Given the description of an element on the screen output the (x, y) to click on. 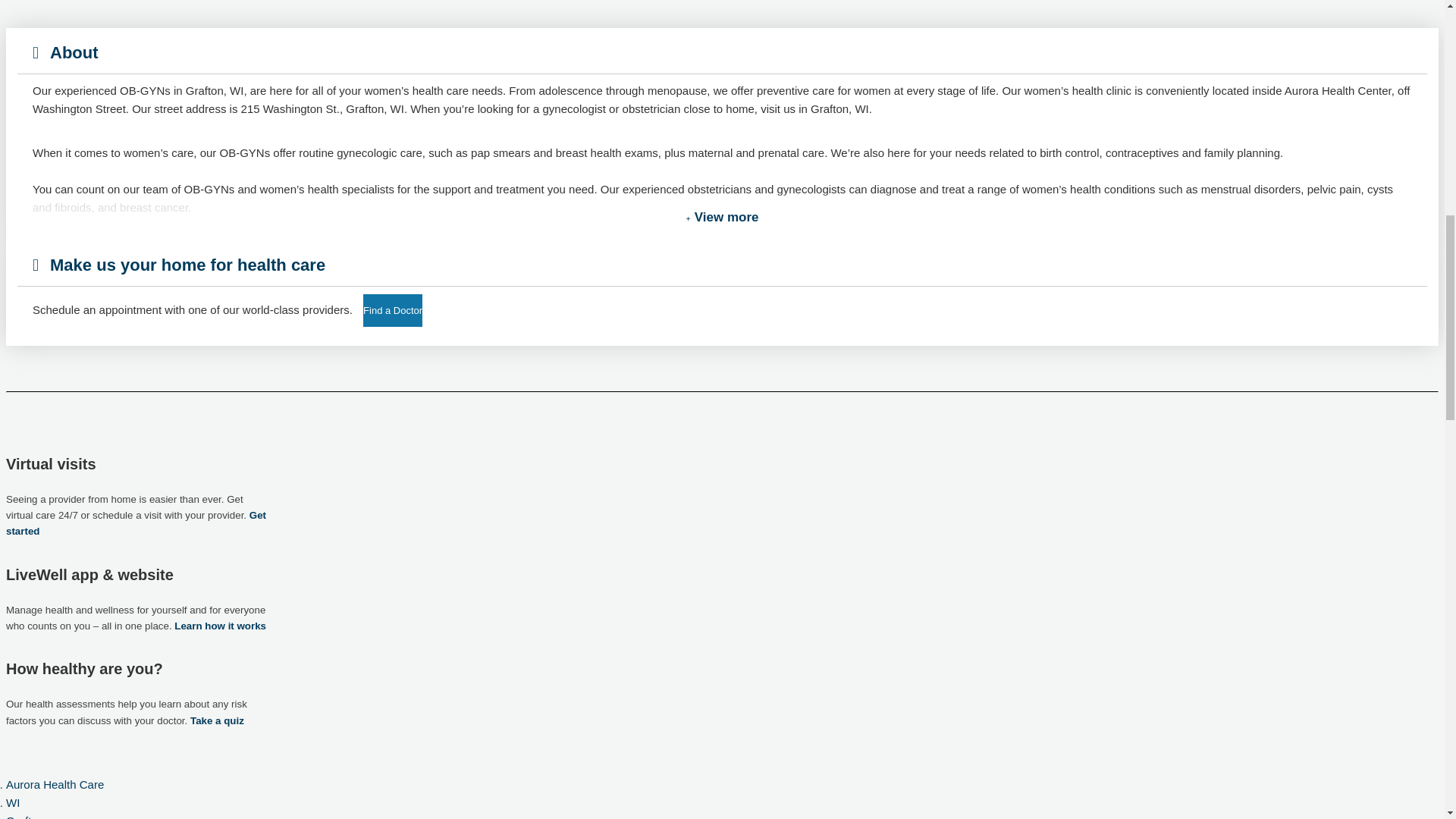
WI (12, 802)
View more (721, 217)
Get directions (731, 1)
Take a quiz (217, 720)
Learn how it works (220, 625)
Find a Doctor (392, 310)
Aurora Health Care (54, 784)
Get started (135, 523)
Grafton (24, 816)
